Given the description of an element on the screen output the (x, y) to click on. 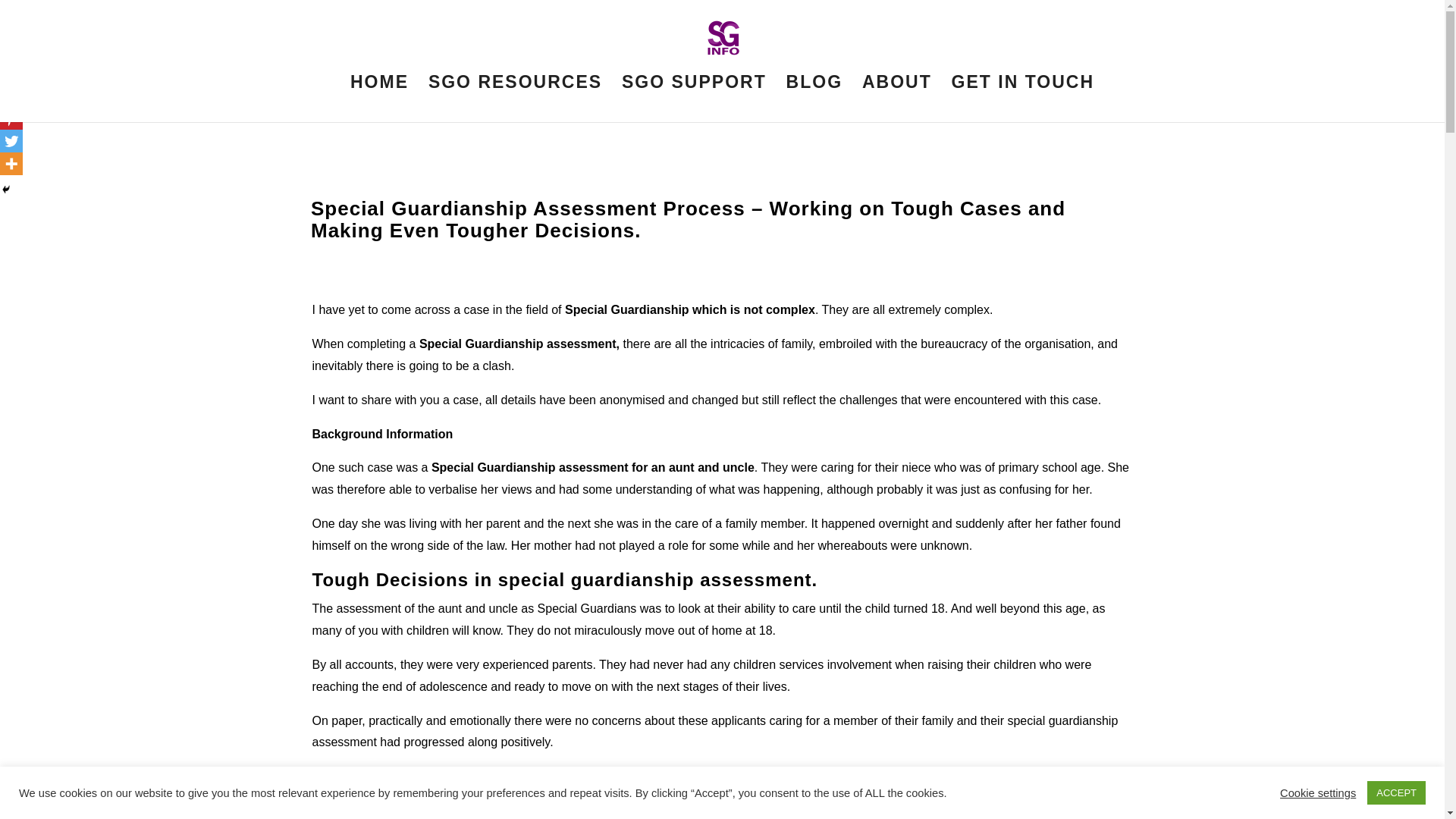
Cookie settings (1317, 792)
BLOG (814, 99)
GET IN TOUCH (1023, 99)
SGO SUPPORT (694, 99)
ABOUT (896, 99)
HOME (379, 99)
Twitter (11, 140)
Pinterest (11, 118)
ACCEPT (1396, 792)
Hide (5, 189)
